Given the description of an element on the screen output the (x, y) to click on. 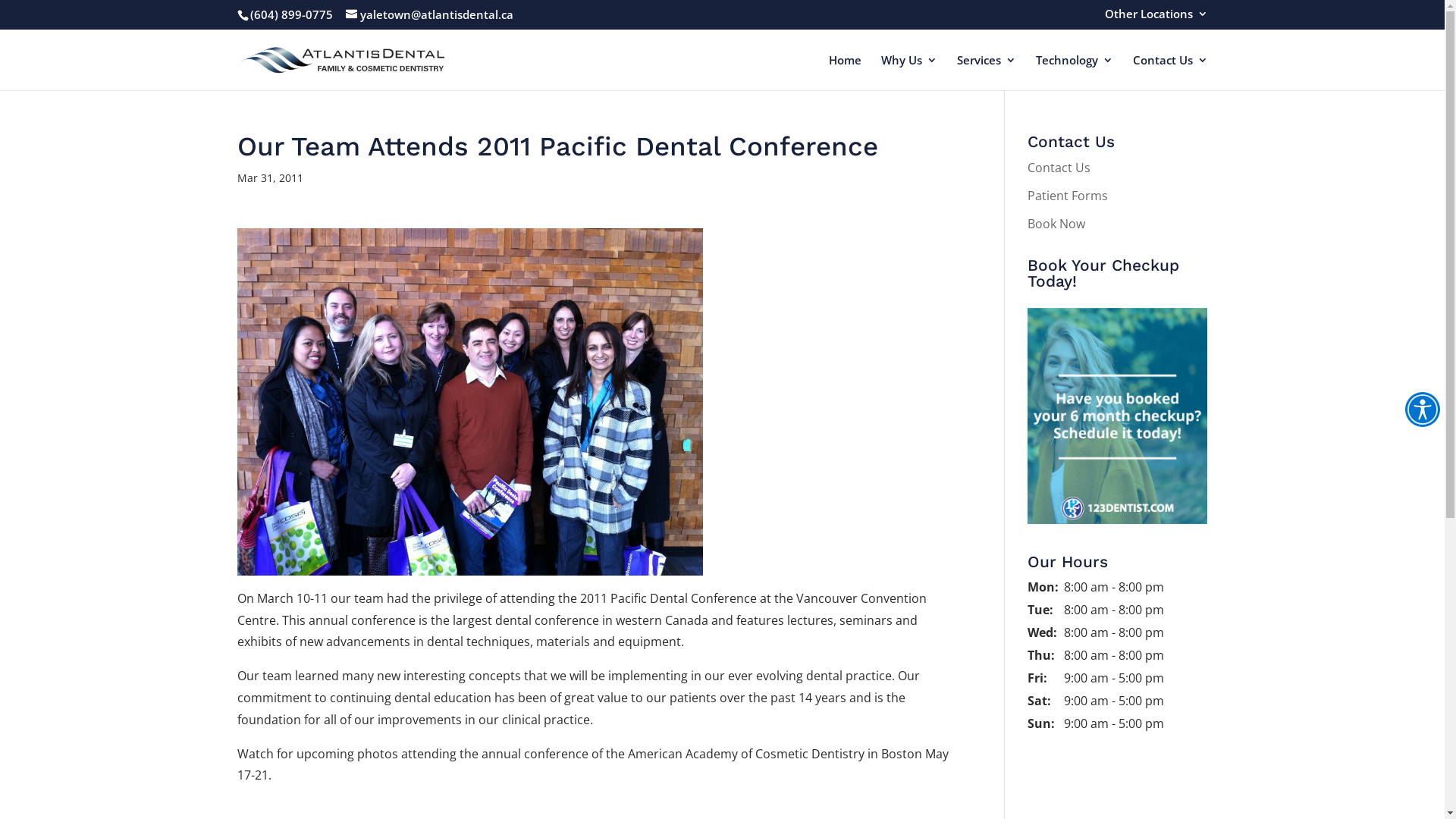
Contact Us Element type: text (1058, 167)
Technology Element type: text (1074, 72)
Other Locations Element type: text (1155, 18)
photo-3 Element type: hover (469, 401)
Book Now Element type: text (1056, 223)
Why Us Element type: text (909, 72)
Contact Us Element type: text (1170, 72)
(604) 899-0775 Element type: text (291, 13)
Home Element type: text (844, 72)
Services Element type: text (986, 72)
Patient Forms Element type: text (1067, 195)
yaletown@atlantisdental.ca Element type: text (429, 13)
